Given the description of an element on the screen output the (x, y) to click on. 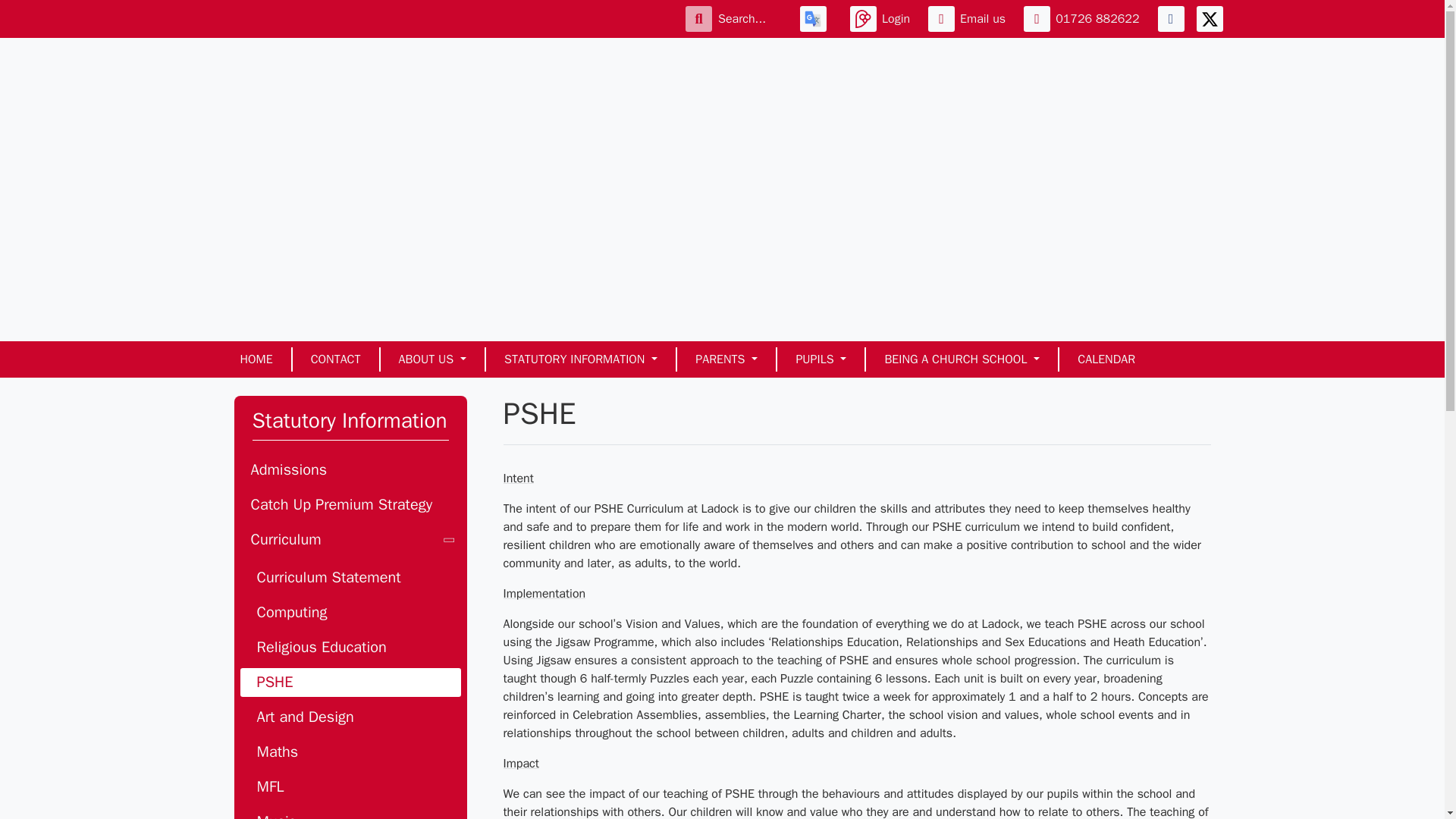
Email us (969, 18)
01726 882622 (1083, 18)
Login (882, 18)
